Given the description of an element on the screen output the (x, y) to click on. 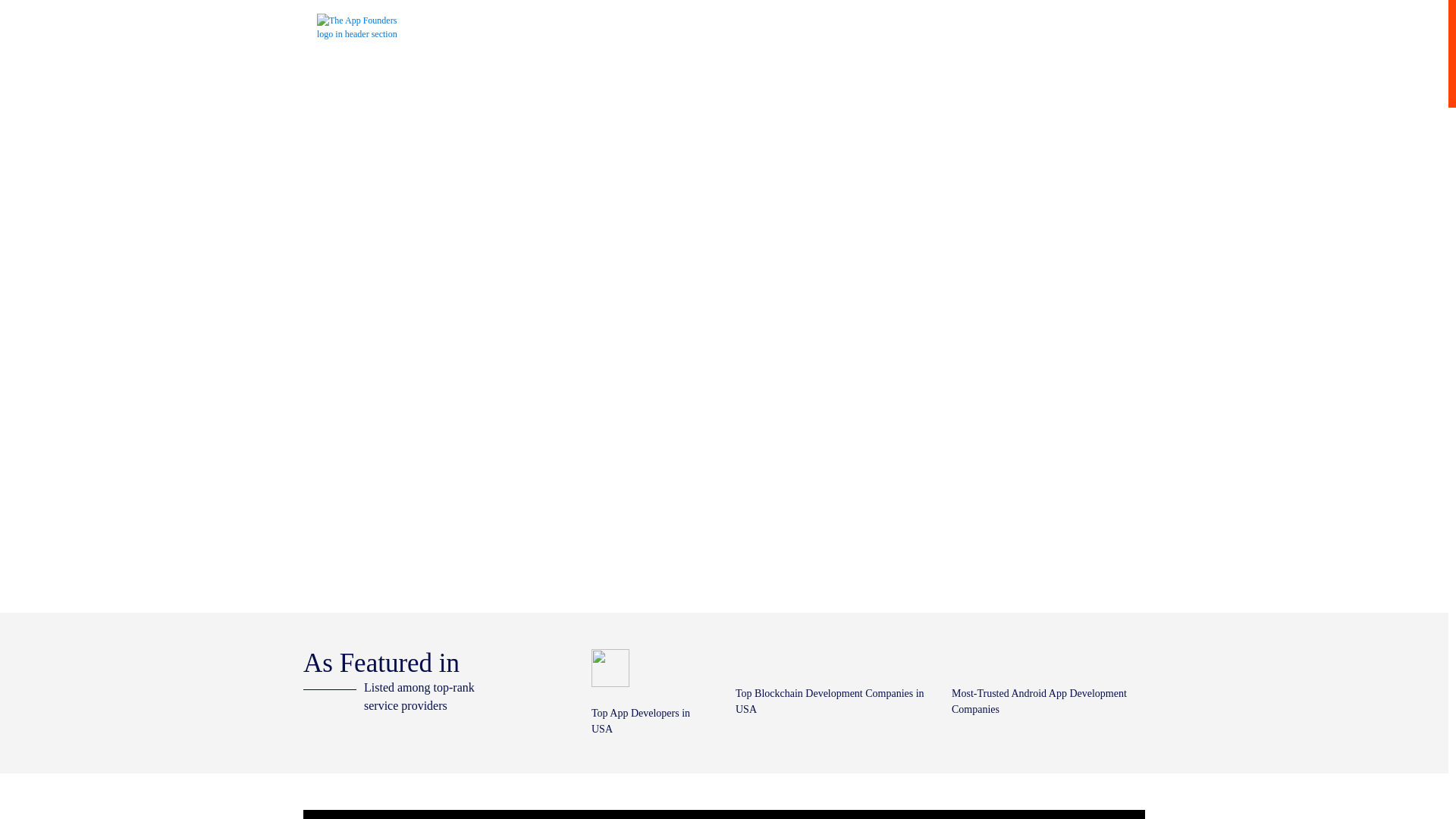
The App Founders logo in header section (363, 26)
CONTACT (970, 18)
BLOGS (896, 18)
LOCATION (479, 27)
SERVICES (651, 27)
ABOUT US (733, 18)
PORTFOLIO (818, 18)
INDUSTRIES (566, 27)
